Given the description of an element on the screen output the (x, y) to click on. 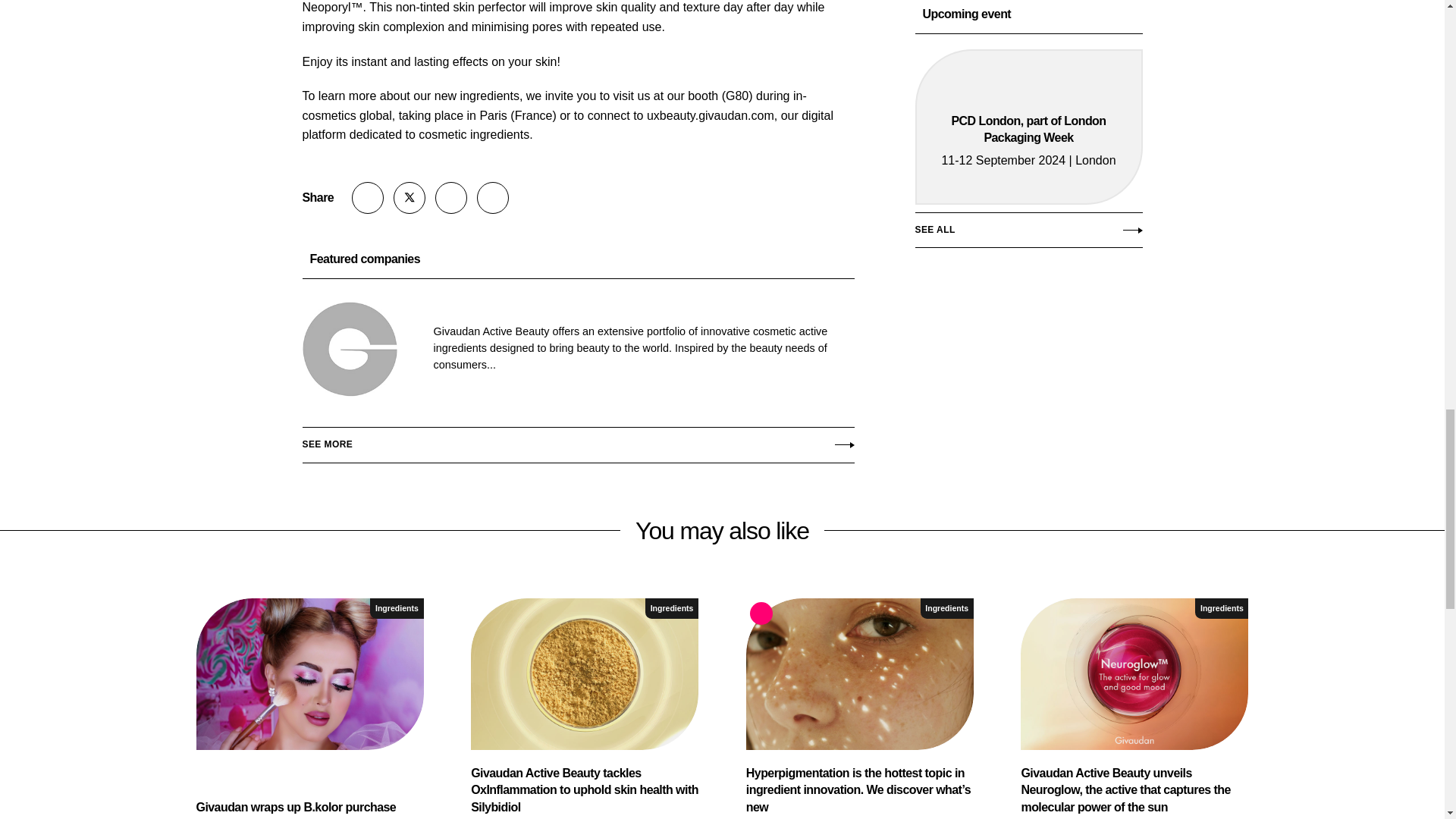
LinkedIn (451, 197)
Follow Cosmetics Business on X (409, 197)
Share this article (368, 197)
Share (368, 197)
X (409, 197)
Facebook (492, 197)
